Given the description of an element on the screen output the (x, y) to click on. 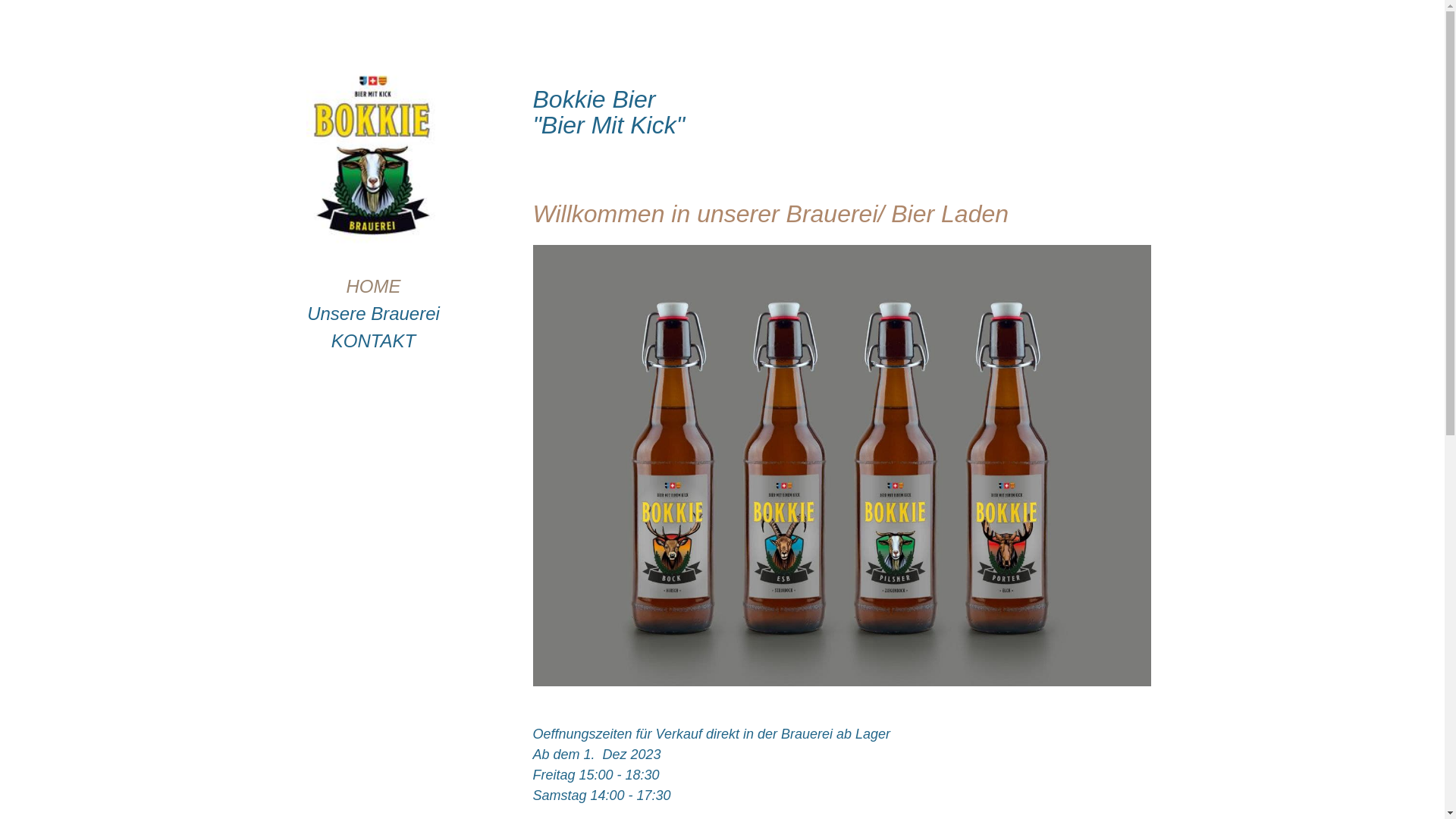
HOME Element type: text (372, 286)
Unsere Brauerei Element type: text (372, 313)
KONTAKT Element type: text (372, 340)
